Given the description of an element on the screen output the (x, y) to click on. 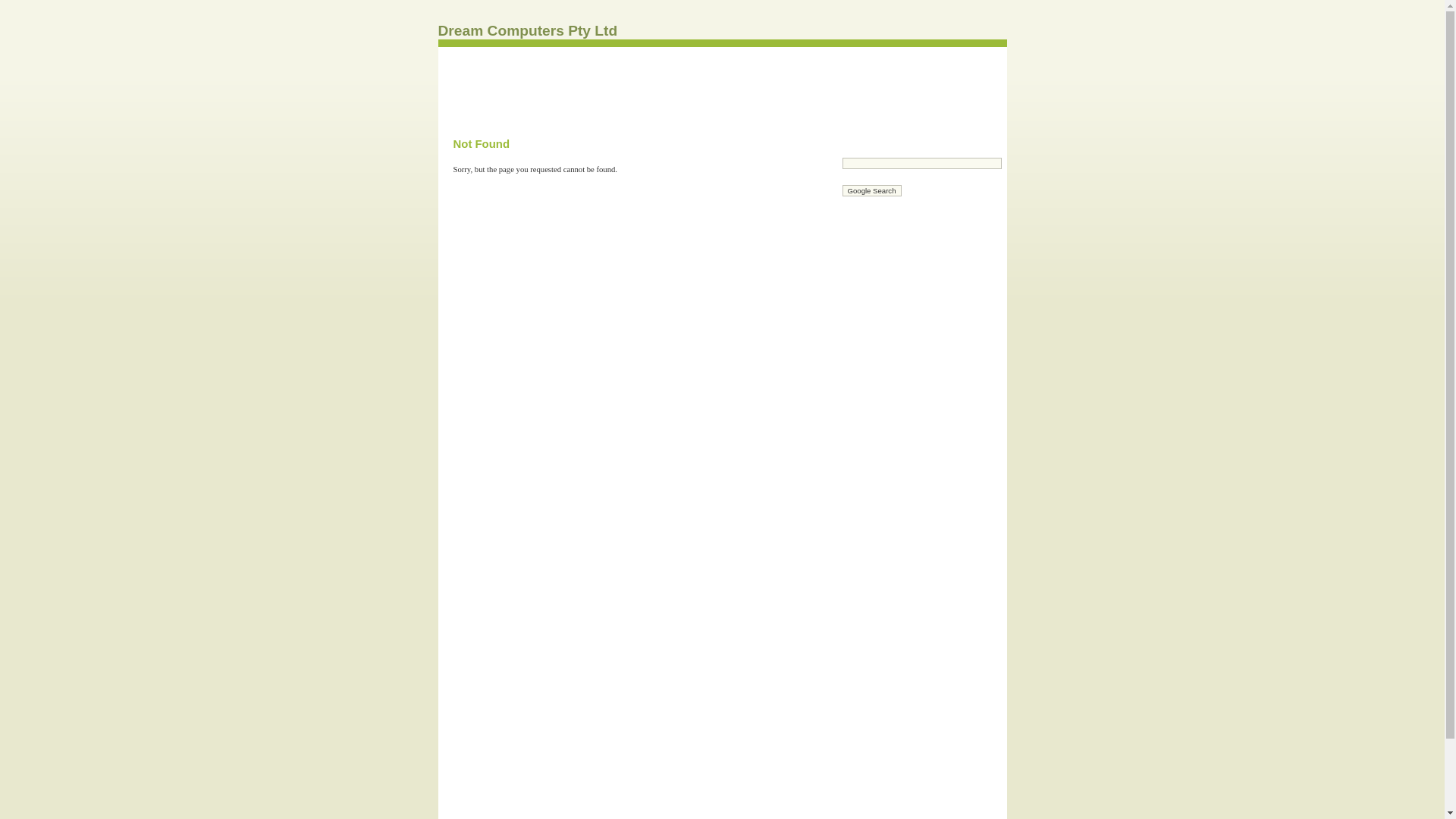
Advertisement Element type: hover (721, 89)
Google Search Element type: text (870, 190)
Dream Computers Pty Ltd Element type: text (528, 30)
